Given the description of an element on the screen output the (x, y) to click on. 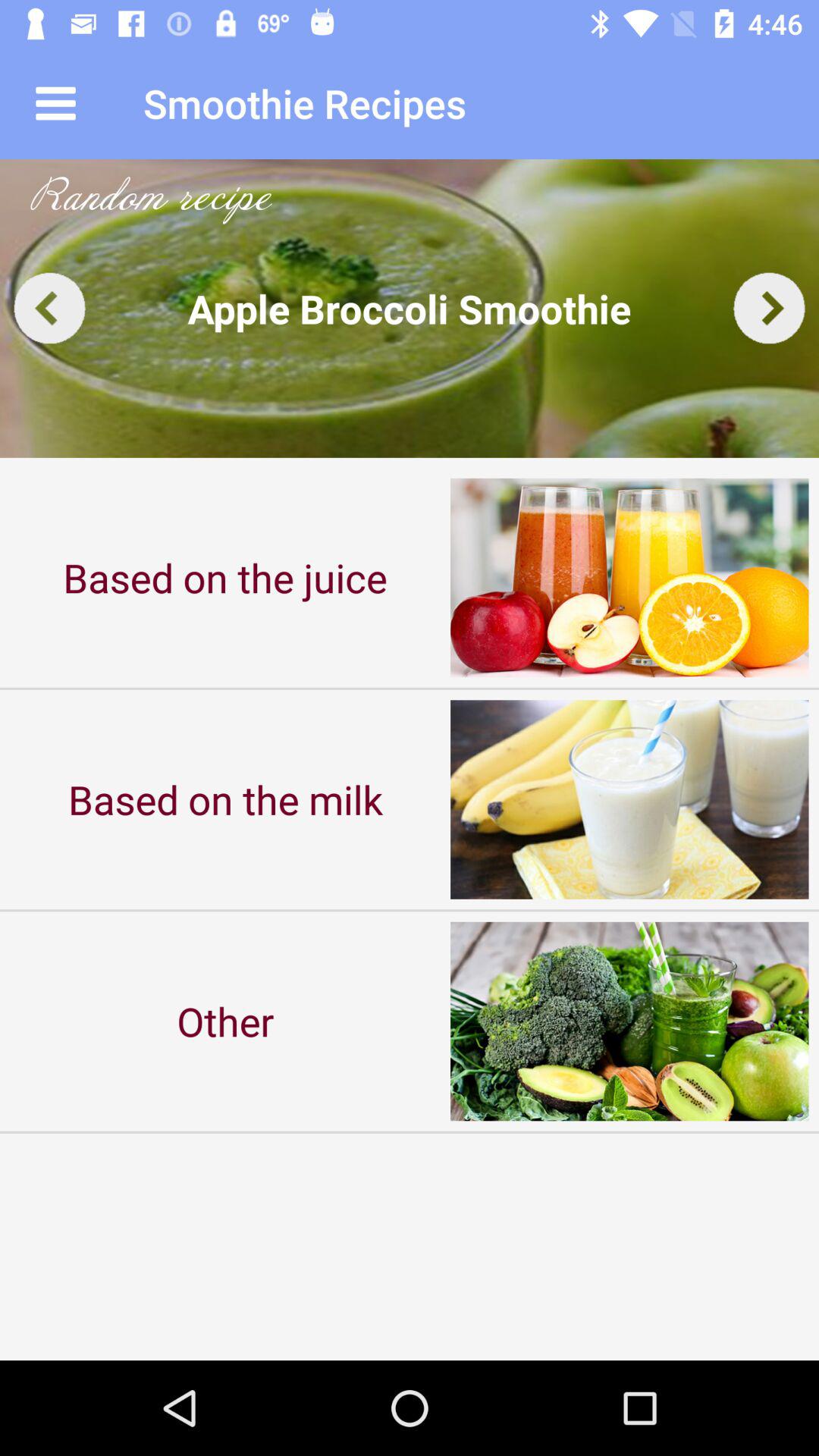
see the images (409, 308)
